Given the description of an element on the screen output the (x, y) to click on. 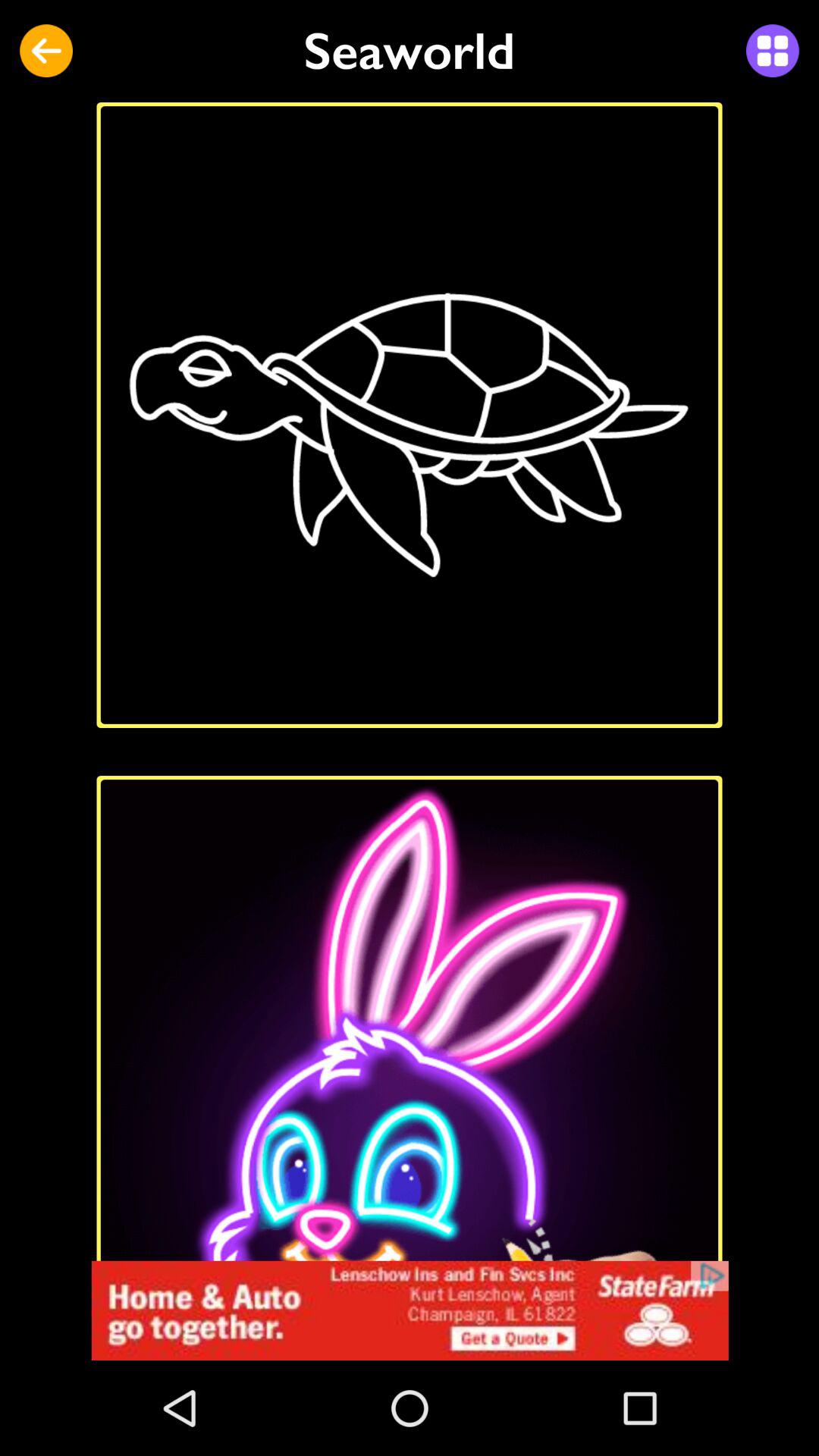
open advertisement (409, 1310)
